Given the description of an element on the screen output the (x, y) to click on. 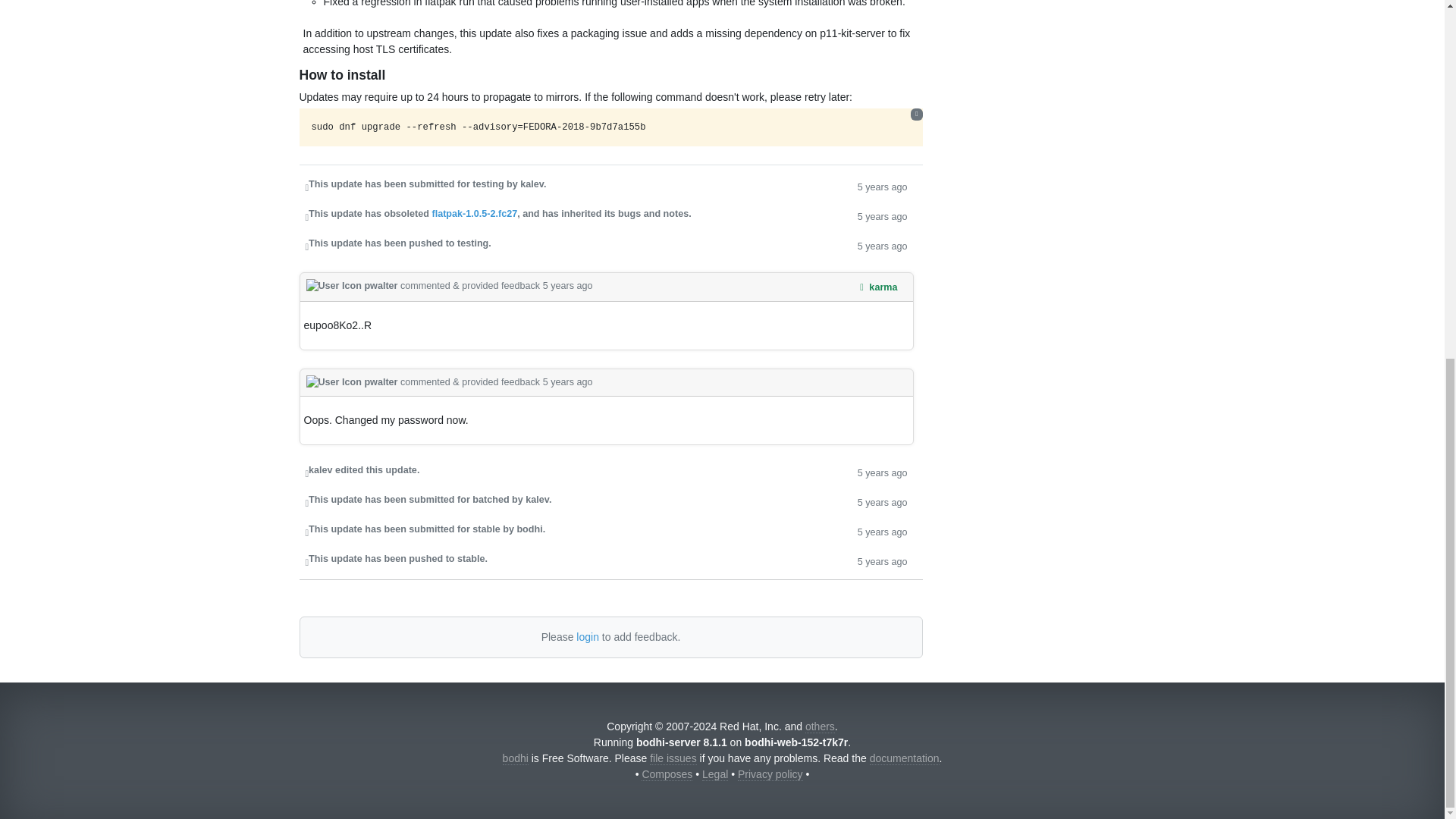
5 years ago (882, 560)
flatpak-1.0.5-2.fc27 (473, 213)
pwalter (353, 381)
5 years ago (882, 185)
5 years ago (882, 530)
5 years ago (882, 471)
5 years ago (882, 501)
Copy to clipboard (916, 114)
5 years ago (882, 215)
pwalter (353, 285)
